Given the description of an element on the screen output the (x, y) to click on. 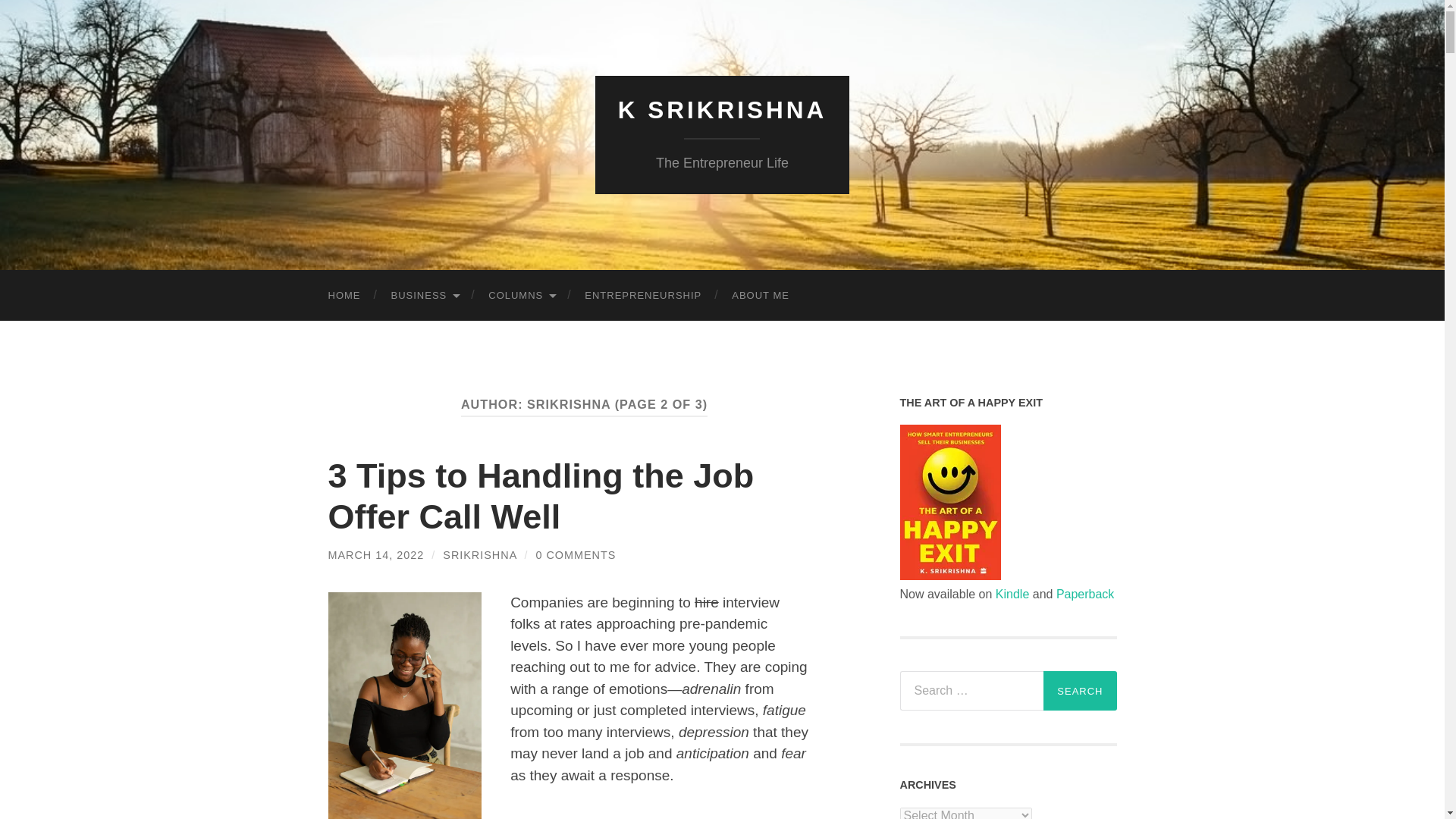
ABOUT ME (760, 295)
ENTREPRENEURSHIP (642, 295)
0 COMMENTS (575, 554)
Posts by Srikrishna (479, 554)
SRIKRISHNA (479, 554)
MARCH 14, 2022 (375, 554)
BUSINESS (424, 295)
K SRIKRISHNA (722, 109)
COLUMNS (521, 295)
3 Tips to Handling the Job Offer Call Well (540, 496)
